Given the description of an element on the screen output the (x, y) to click on. 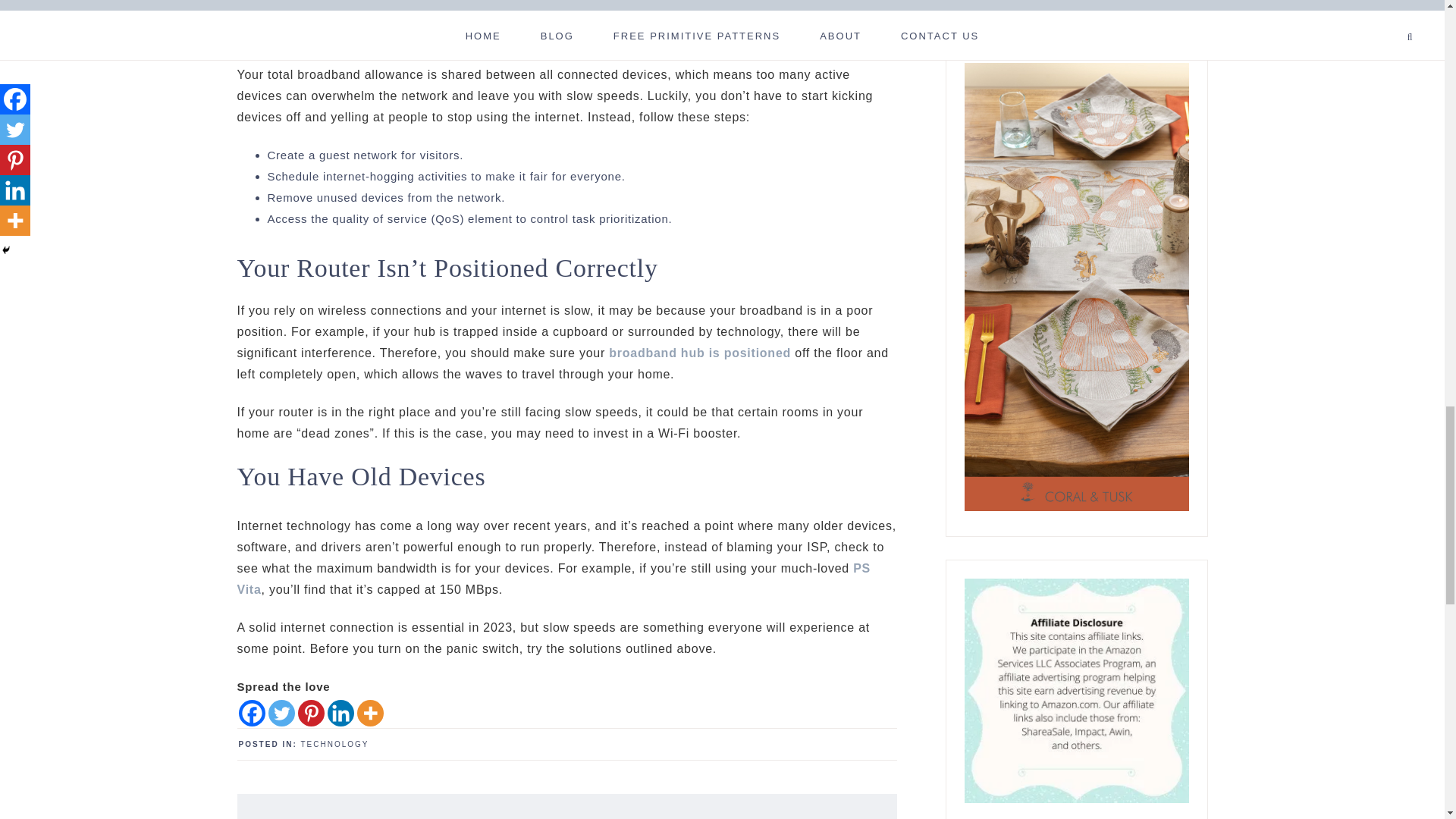
More (369, 713)
Twitter (281, 713)
Facebook (251, 713)
Linkedin (340, 713)
Pinterest (310, 713)
